Given the description of an element on the screen output the (x, y) to click on. 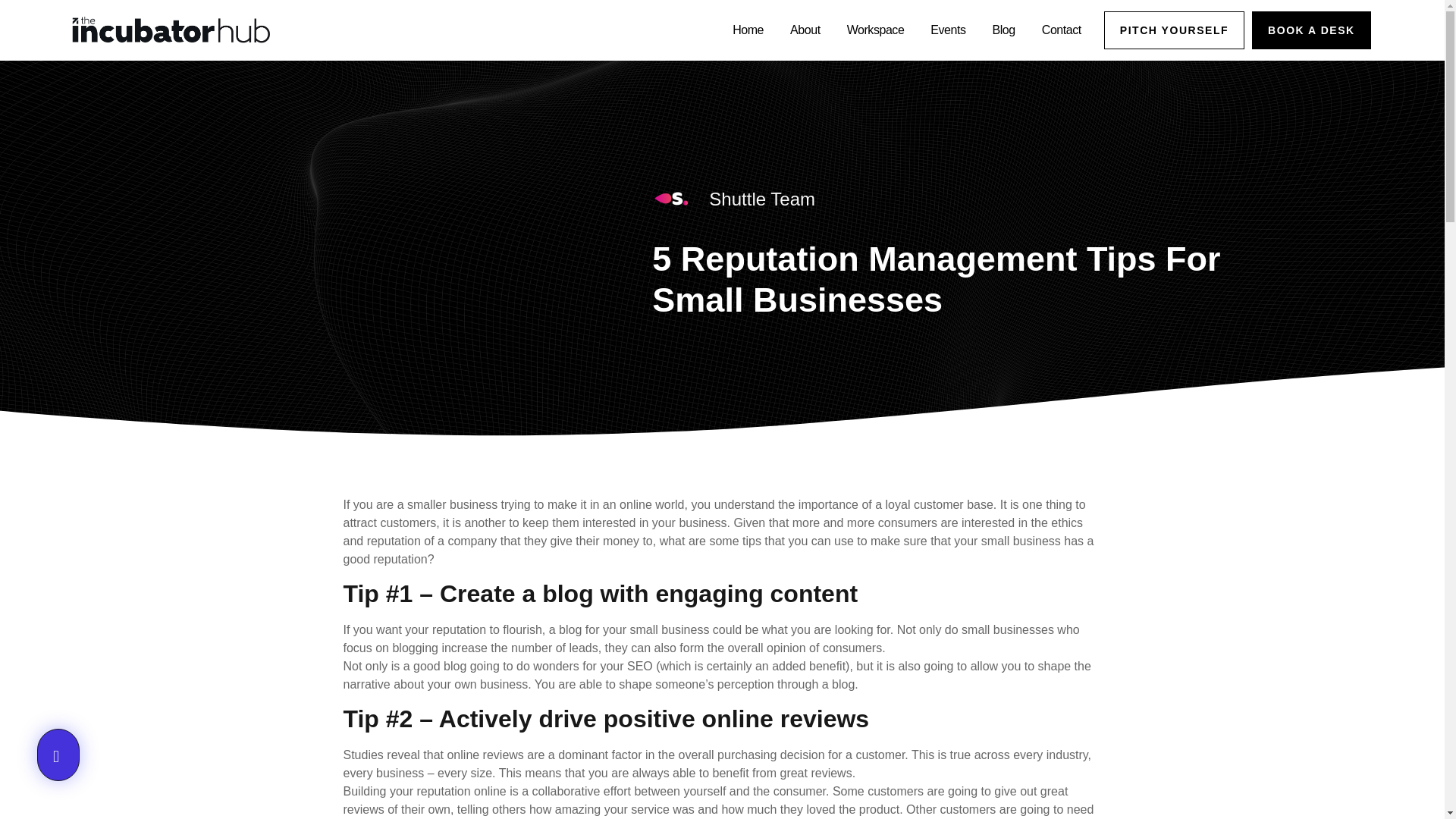
Home (724, 30)
About (786, 30)
Contact (1061, 30)
Workspace (869, 30)
Blog (1004, 30)
Events (947, 30)
